Given the description of an element on the screen output the (x, y) to click on. 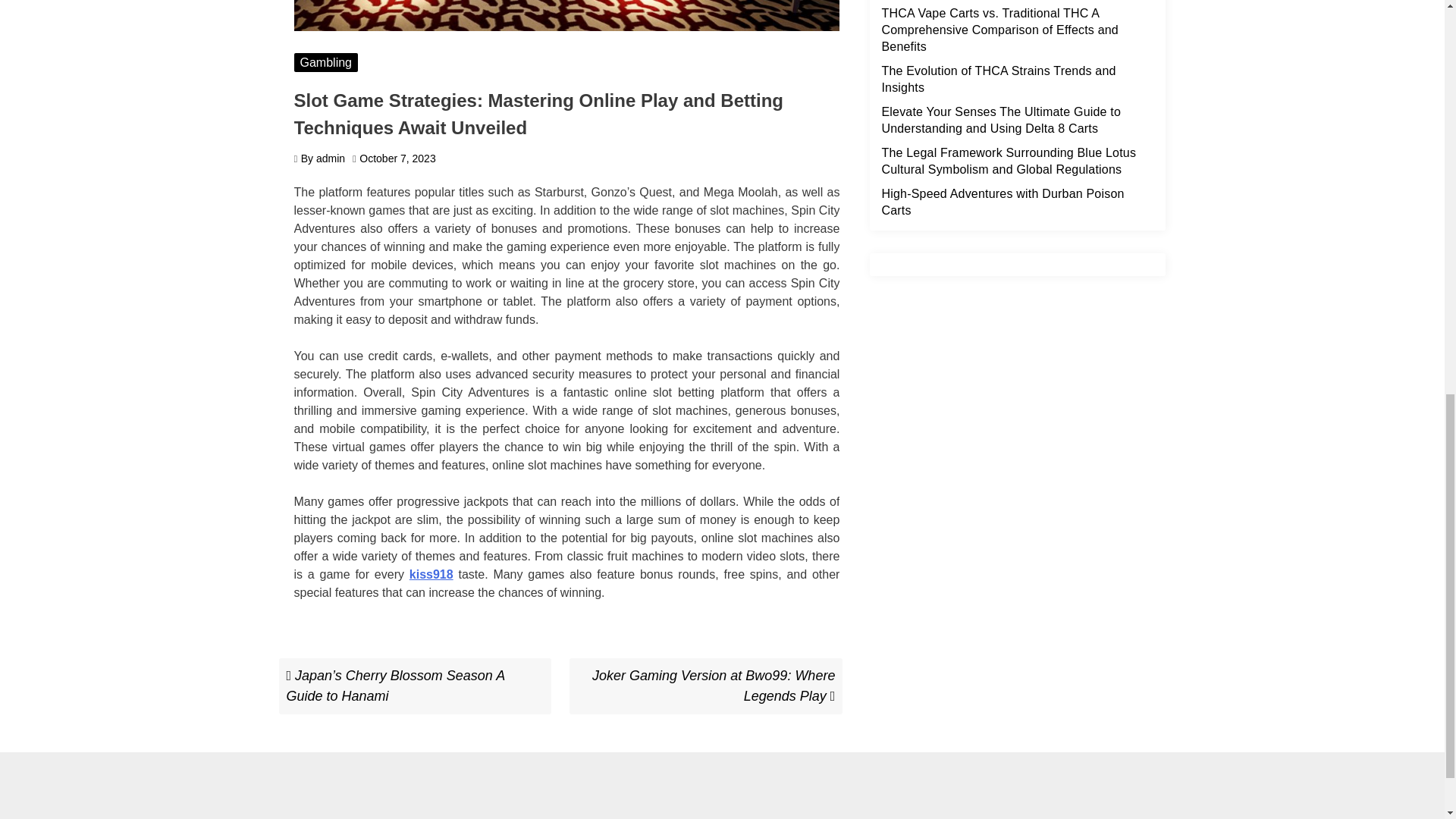
Gambling (326, 62)
admin (330, 158)
kiss918 (430, 574)
October 7, 2023 (397, 158)
High-Speed Adventures with Durban Poison Carts (1002, 202)
The Evolution of THCA Strains Trends and Insights (713, 685)
